Given the description of an element on the screen output the (x, y) to click on. 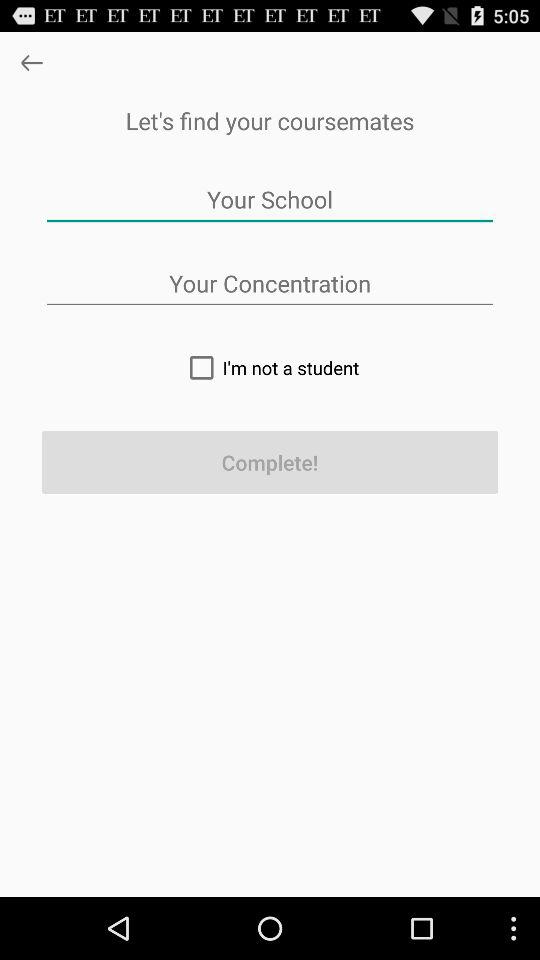
choose the i m not icon (269, 367)
